Given the description of an element on the screen output the (x, y) to click on. 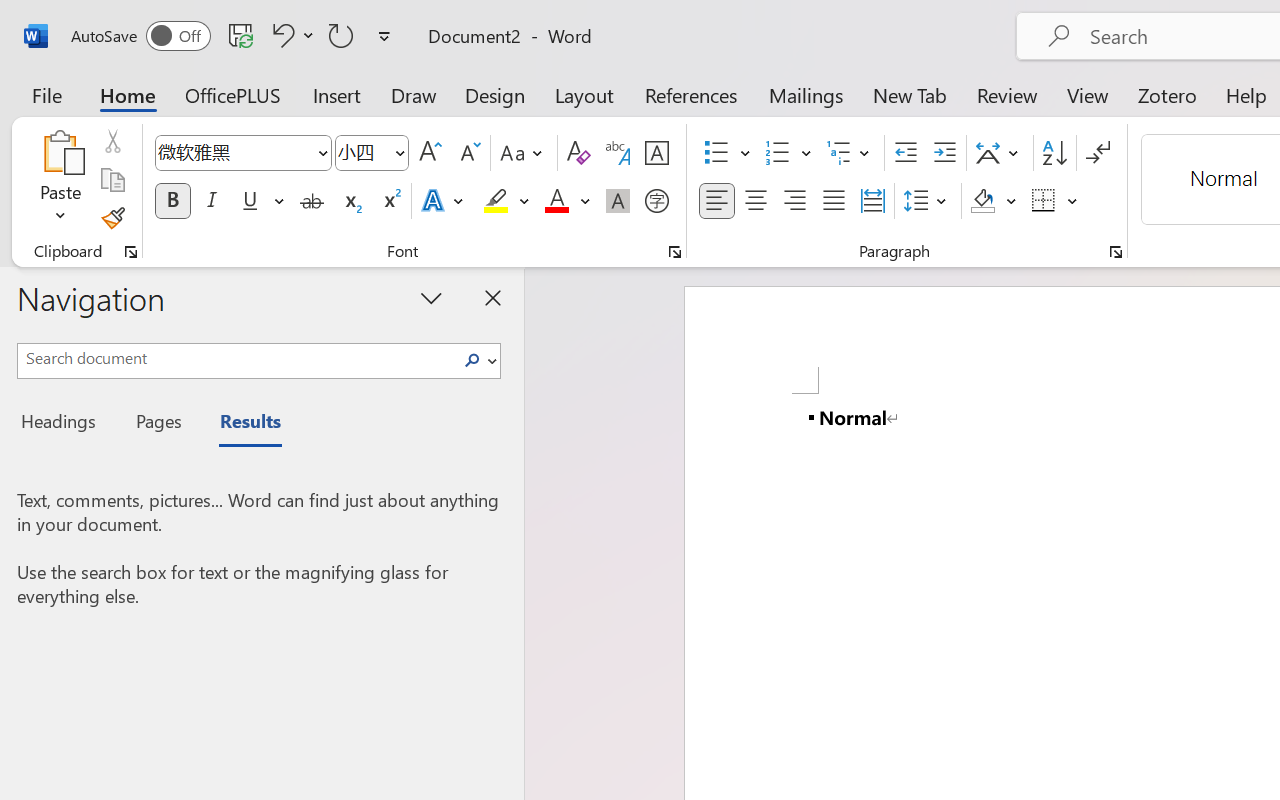
Undo Text Fill Effect (290, 35)
Paragraph... (1115, 252)
Strikethrough (312, 201)
Align Left (716, 201)
Cut (112, 141)
Font Color Red (556, 201)
Character Border (656, 153)
Text Highlight Color (506, 201)
Headings (64, 424)
Font... (675, 252)
Align Right (794, 201)
Bullets (716, 153)
Pages (156, 424)
Asian Layout (1000, 153)
